Given the description of an element on the screen output the (x, y) to click on. 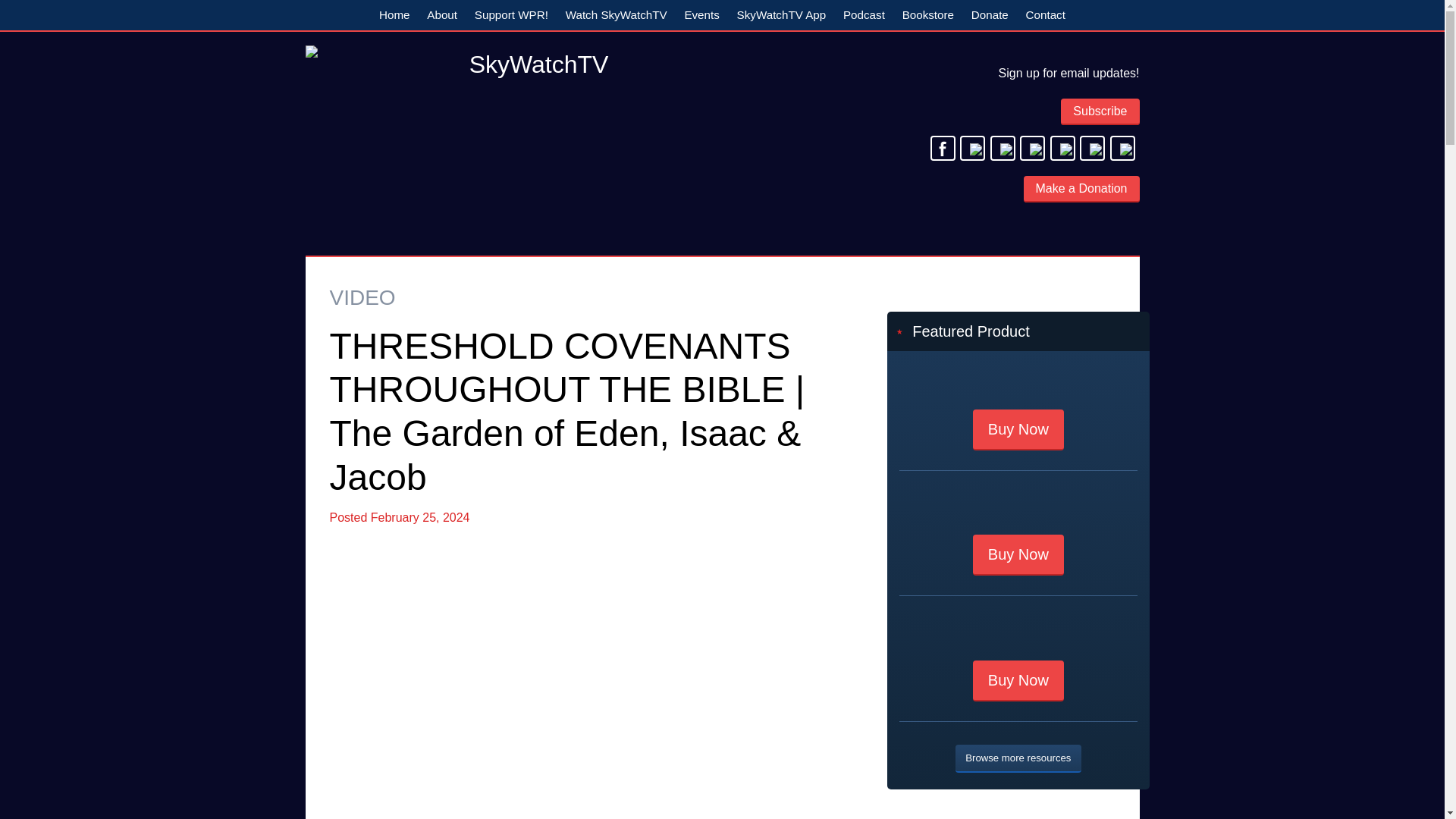
Watch us on Rumble (1122, 147)
Bookstore (927, 15)
VIDEO (361, 297)
About (442, 15)
Follow us on Twitter (972, 147)
Watch SkyWatchTV (615, 15)
Current Television Program (615, 15)
Support WPR! (510, 15)
Follow us on Gab (1062, 147)
Contact (1045, 15)
